Given the description of an element on the screen output the (x, y) to click on. 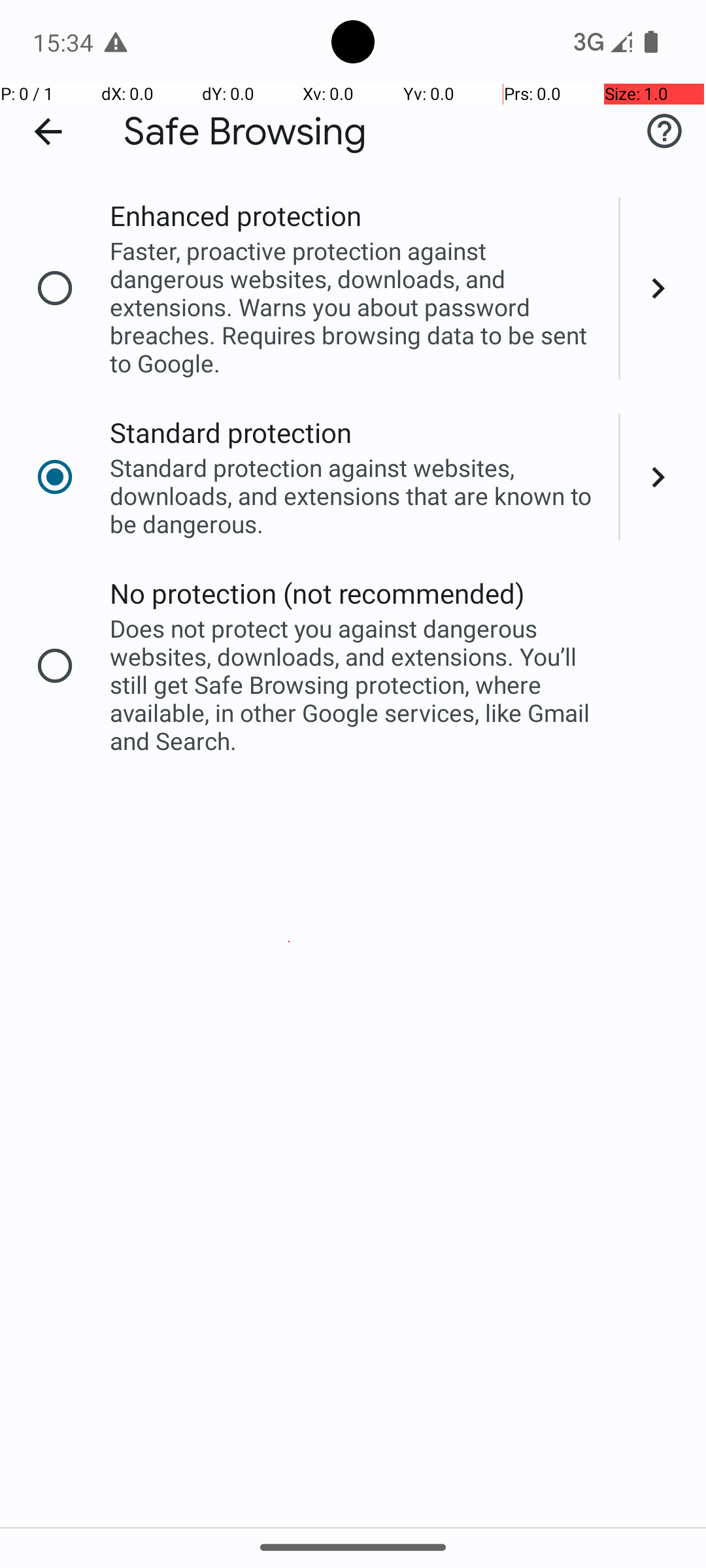
Safe Browsing Element type: android.widget.TextView (244, 131)
Help & feedback Element type: android.widget.Button (664, 131)
Enhanced protection Element type: android.widget.TextView (235, 214)
Faster, proactive protection against dangerous websites, downloads, and extensions. Warns you about password breaches. Requires browsing data to be sent to Google. Element type: android.widget.TextView (355, 306)
Expand Element type: android.widget.ImageButton (663, 287)
Standard protection Element type: android.widget.TextView (230, 431)
Standard protection against websites, downloads, and extensions that are known to be dangerous. Element type: android.widget.TextView (355, 495)
No protection (not recommended) Element type: android.widget.TextView (317, 592)
Does not protect you against dangerous websites, downloads, and extensions. You’ll still get Safe Browsing protection, where available, in other Google services, like Gmail and Search. Element type: android.widget.TextView (355, 684)
